Given the description of an element on the screen output the (x, y) to click on. 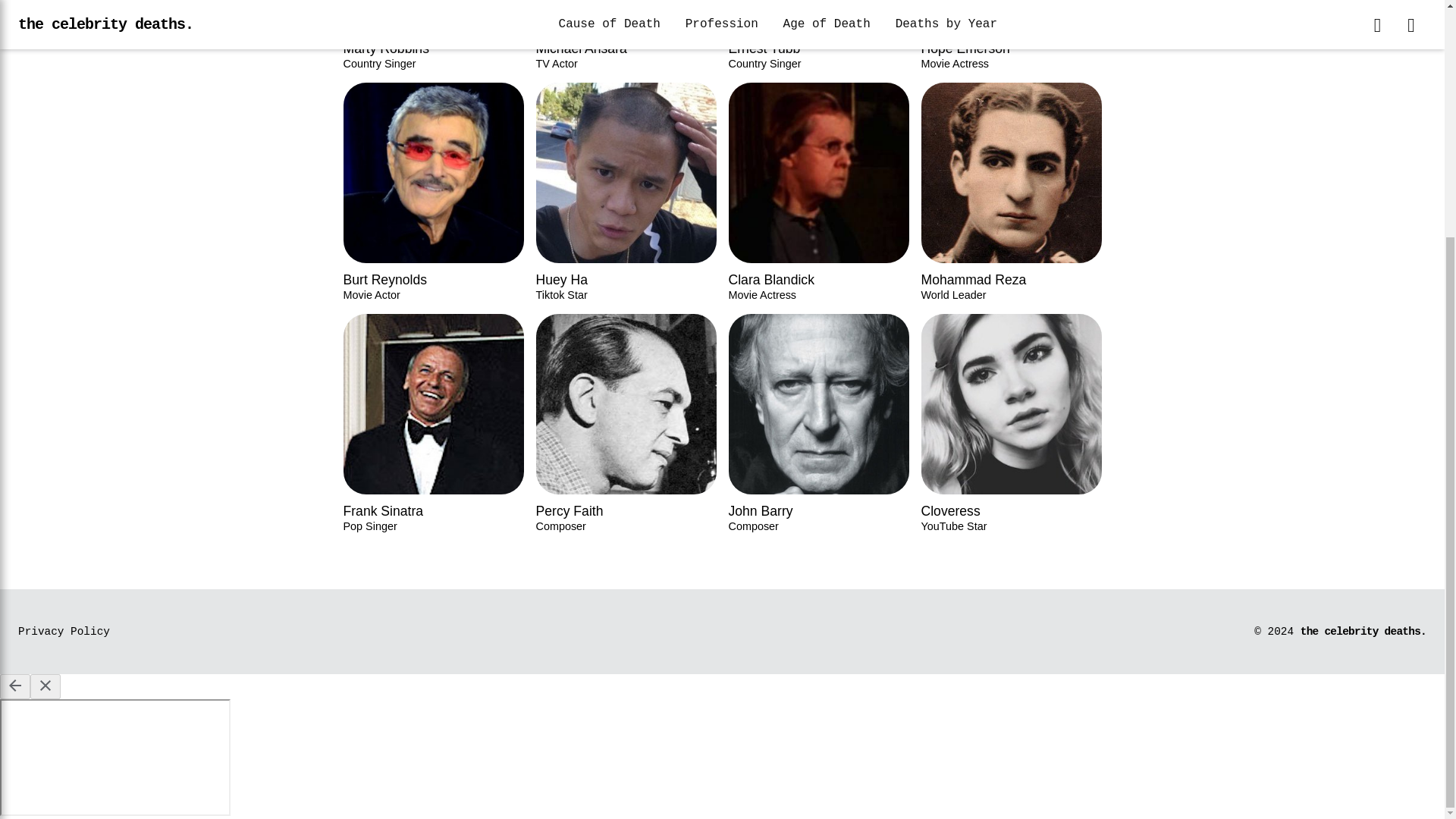
Ernest Tubb (818, 35)
Privacy Policy (432, 35)
Michael Ansara (63, 631)
Marty Robbins (818, 35)
Hope Emerson (625, 35)
